Given the description of an element on the screen output the (x, y) to click on. 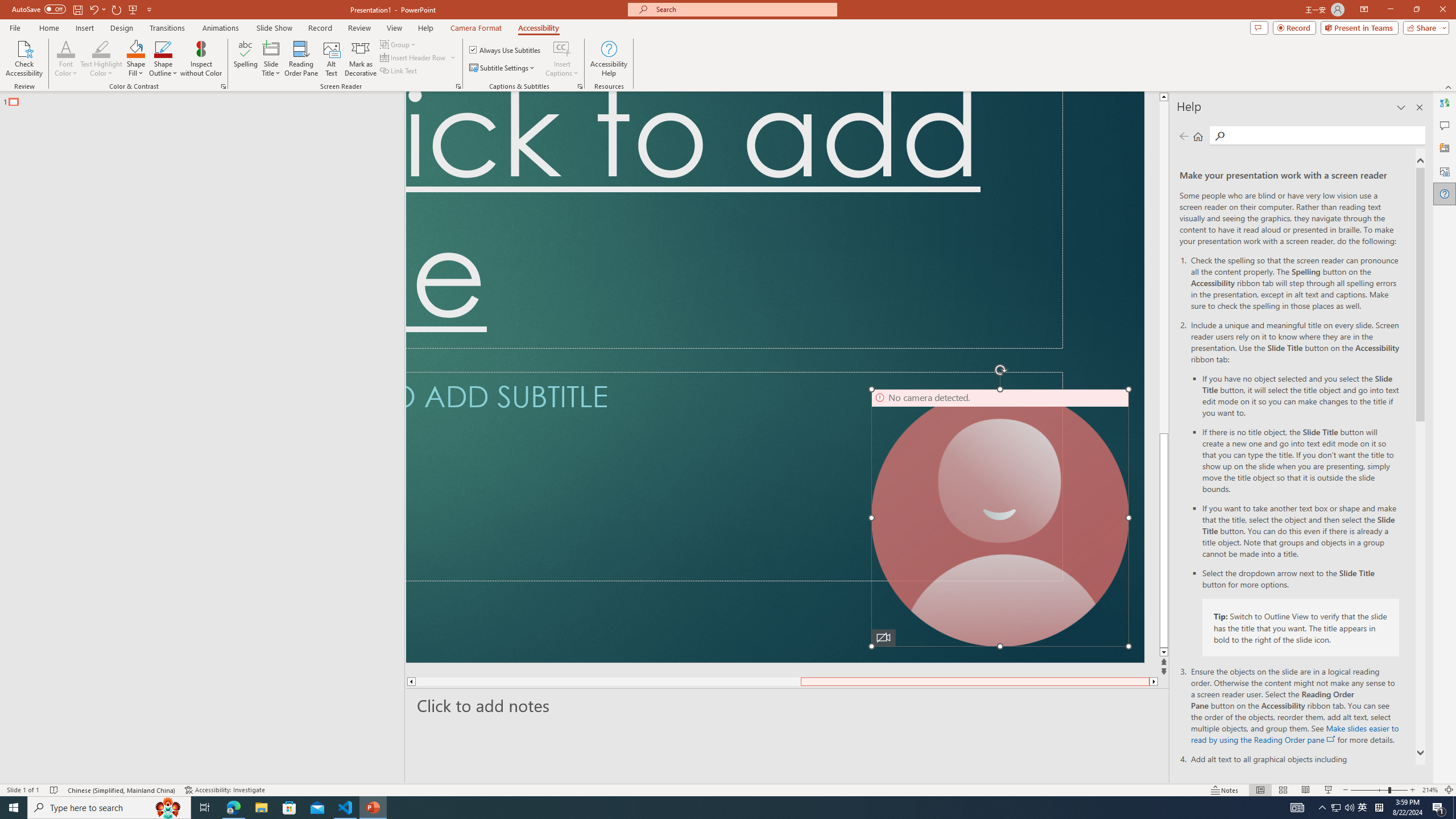
Decorative Locked (775, 376)
Always Use Subtitles (505, 49)
Slide Title (271, 58)
Slide Title (271, 48)
Shape Fill Orange, Accent 2 (135, 48)
Color & Contrast (223, 85)
Insert Header Row (418, 56)
